Given the description of an element on the screen output the (x, y) to click on. 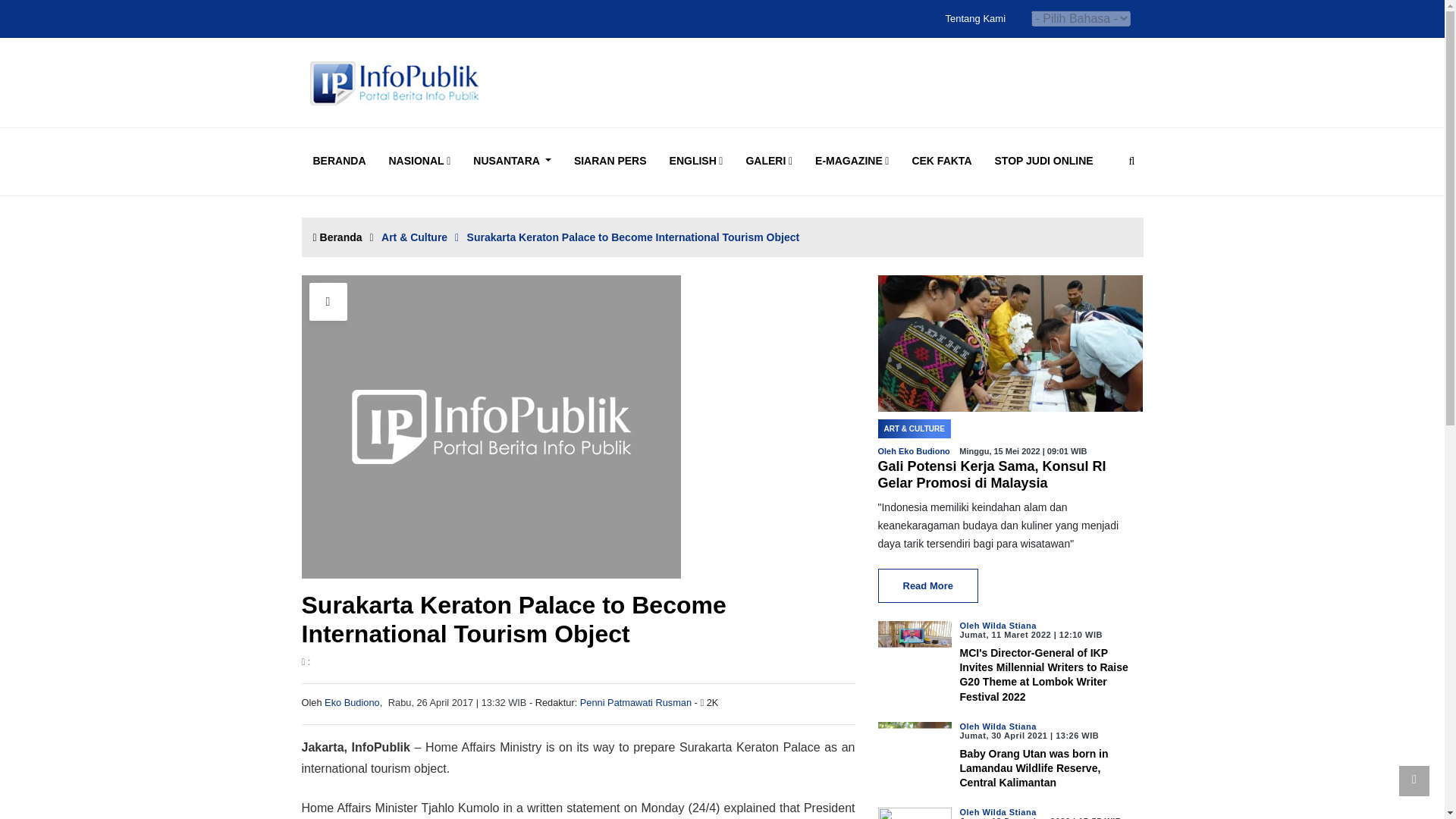
NUSANTARA (512, 160)
CEK FAKTA (941, 160)
BERANDA (338, 160)
ENGLISH (696, 160)
SIARAN PERS (609, 160)
NASIONAL (419, 160)
GALERI (768, 160)
E-MAGAZINE (852, 160)
Tentang Kami (975, 18)
